Given the description of an element on the screen output the (x, y) to click on. 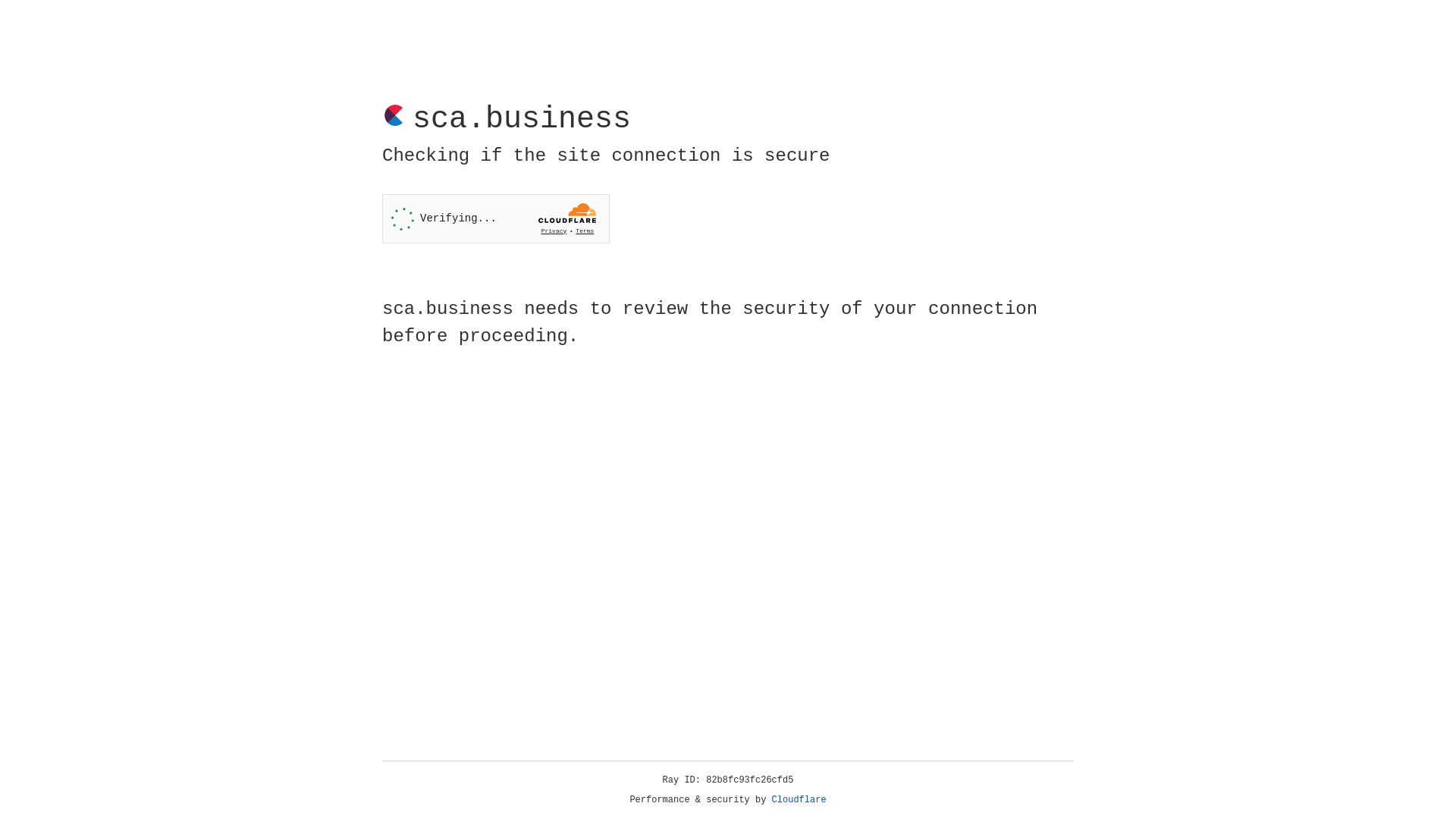
Cloudflare Element type: text (798, 799)
Widget containing a Cloudflare security challenge Element type: hover (495, 218)
